Given the description of an element on the screen output the (x, y) to click on. 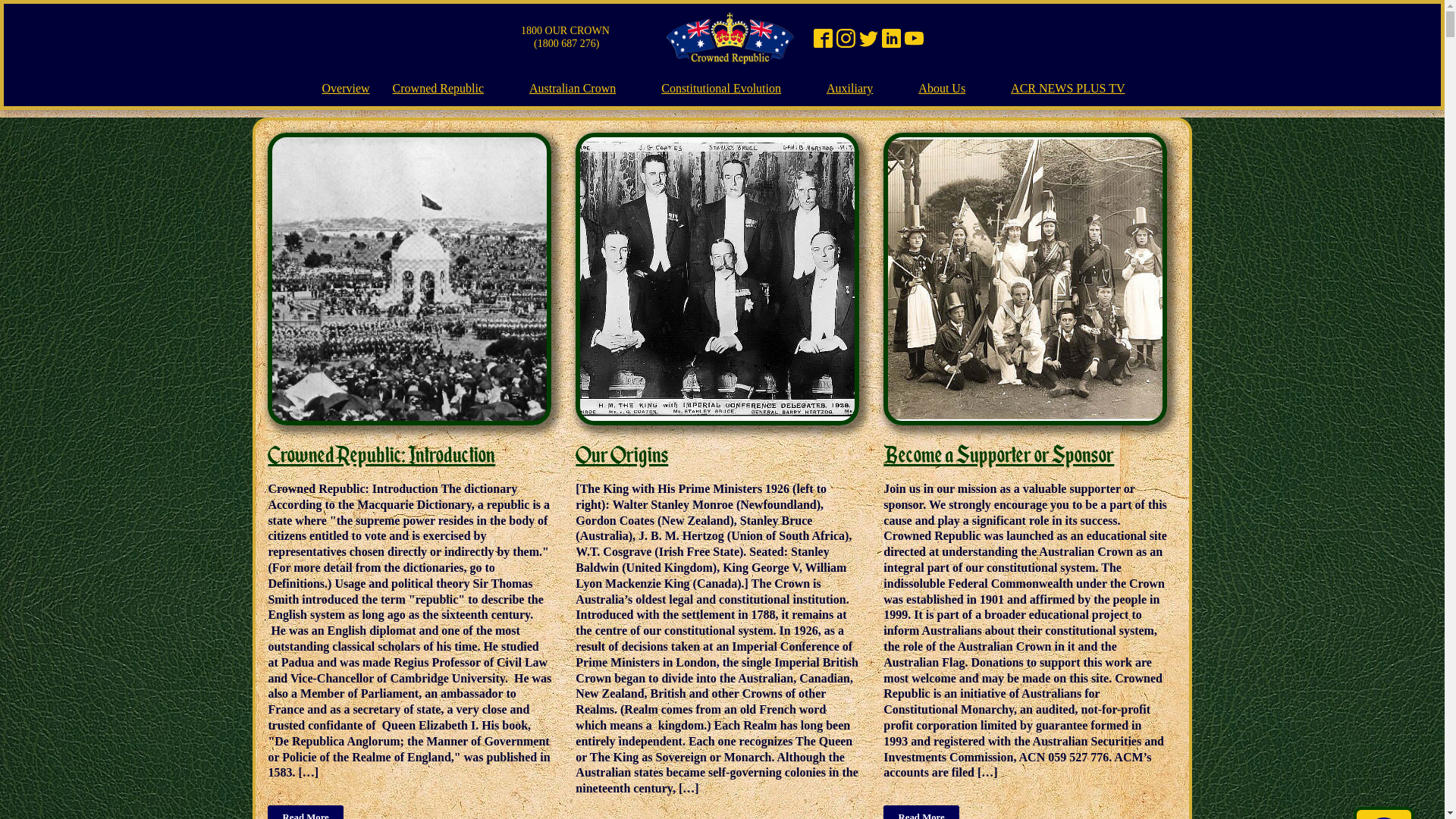
Our Origins Element type: text (621, 455)
Constitutional Evolution Element type: text (721, 88)
ACR NEWS PLUS TV Element type: text (1067, 88)
Australian Crown Element type: text (572, 88)
About Us Element type: text (941, 88)
Overview Element type: text (345, 88)
Become a Supporter or Sponsor Element type: text (998, 455)
Auxiliary Element type: text (849, 88)
Crowned Republic: Introduction Element type: text (381, 455)
Crowned Republic Element type: text (437, 88)
